Given the description of an element on the screen output the (x, y) to click on. 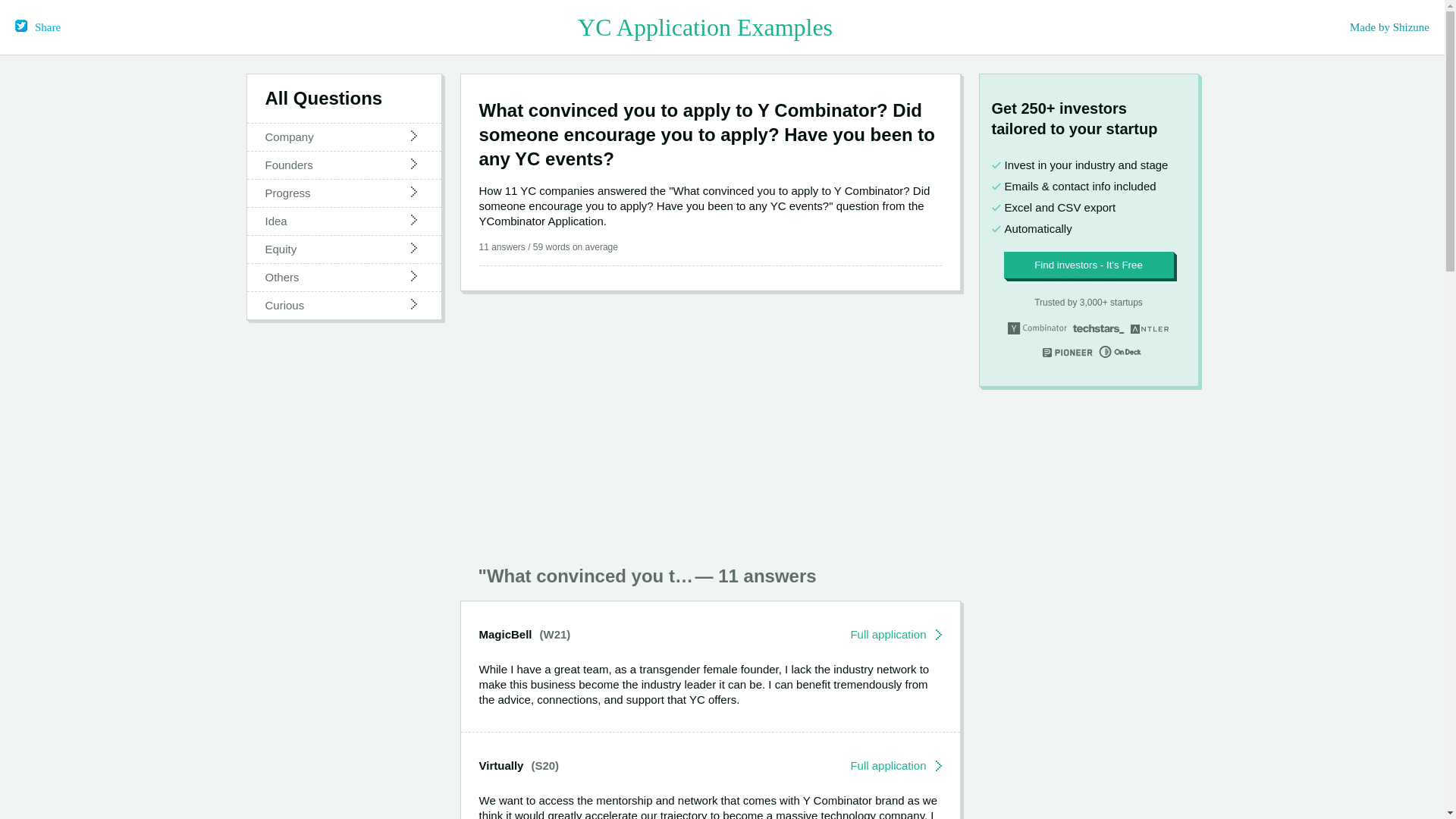
Made by Shizune (1389, 26)
Advertisement (709, 421)
YC Application Examples (705, 26)
Share (37, 27)
